Given the description of an element on the screen output the (x, y) to click on. 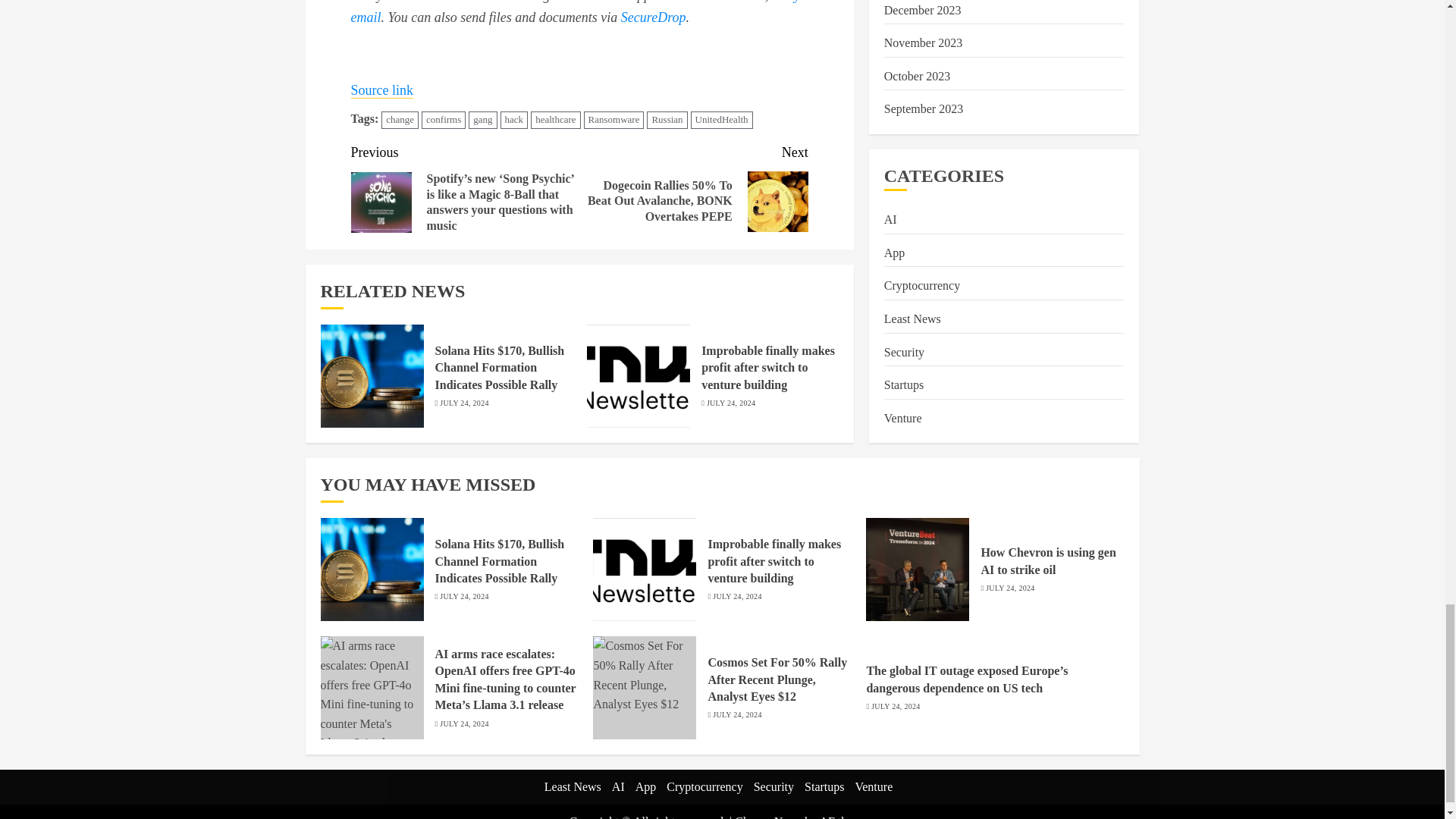
Russian (666, 119)
gang (482, 119)
UnitedHealth (721, 119)
confirms (443, 119)
Source link (381, 90)
healthcare (555, 119)
by email (574, 12)
change (400, 119)
SecureDrop (653, 17)
Ransomware (614, 119)
hack (514, 119)
